Given the description of an element on the screen output the (x, y) to click on. 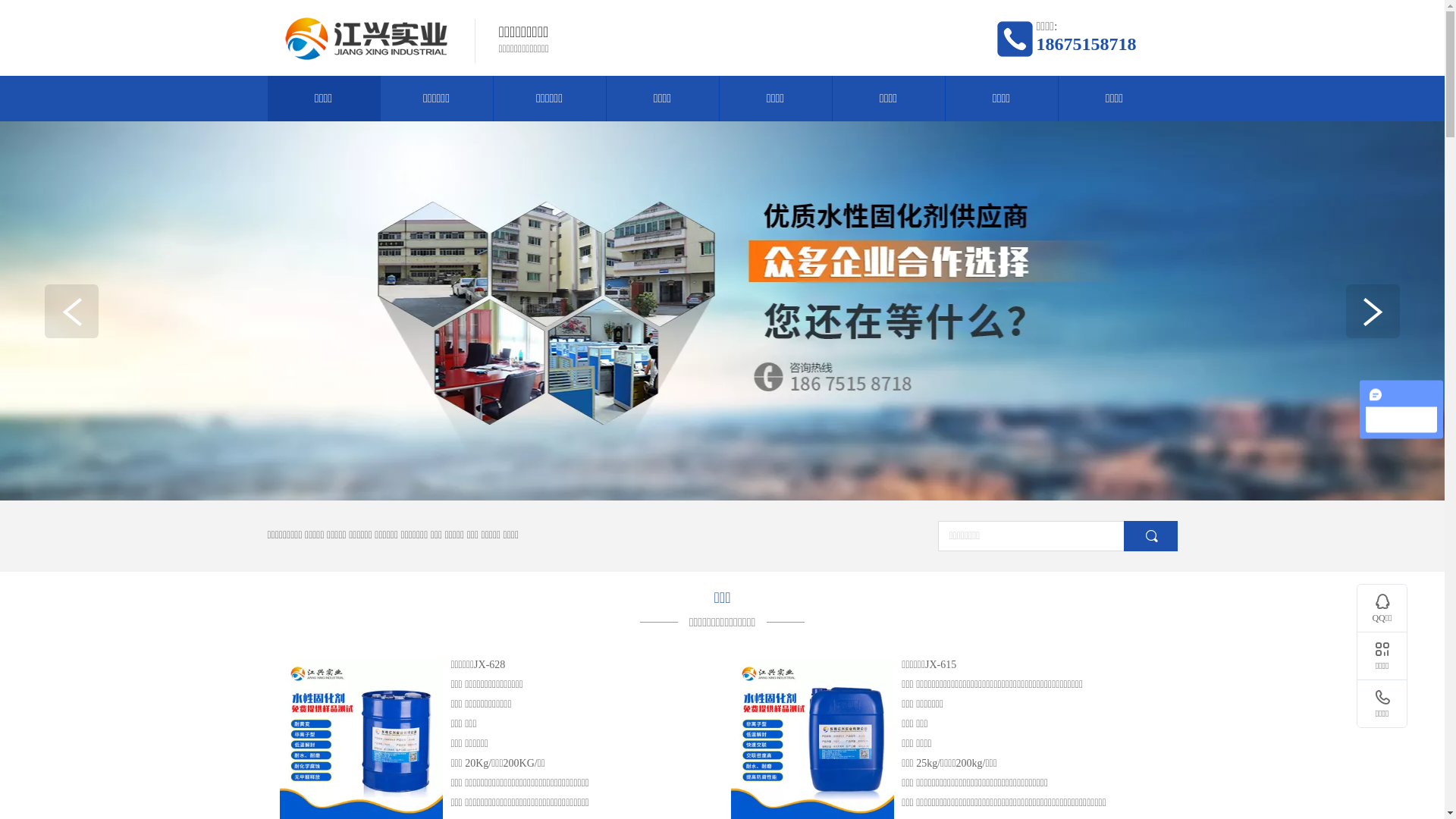
logo Element type: hover (365, 38)
